Given the description of an element on the screen output the (x, y) to click on. 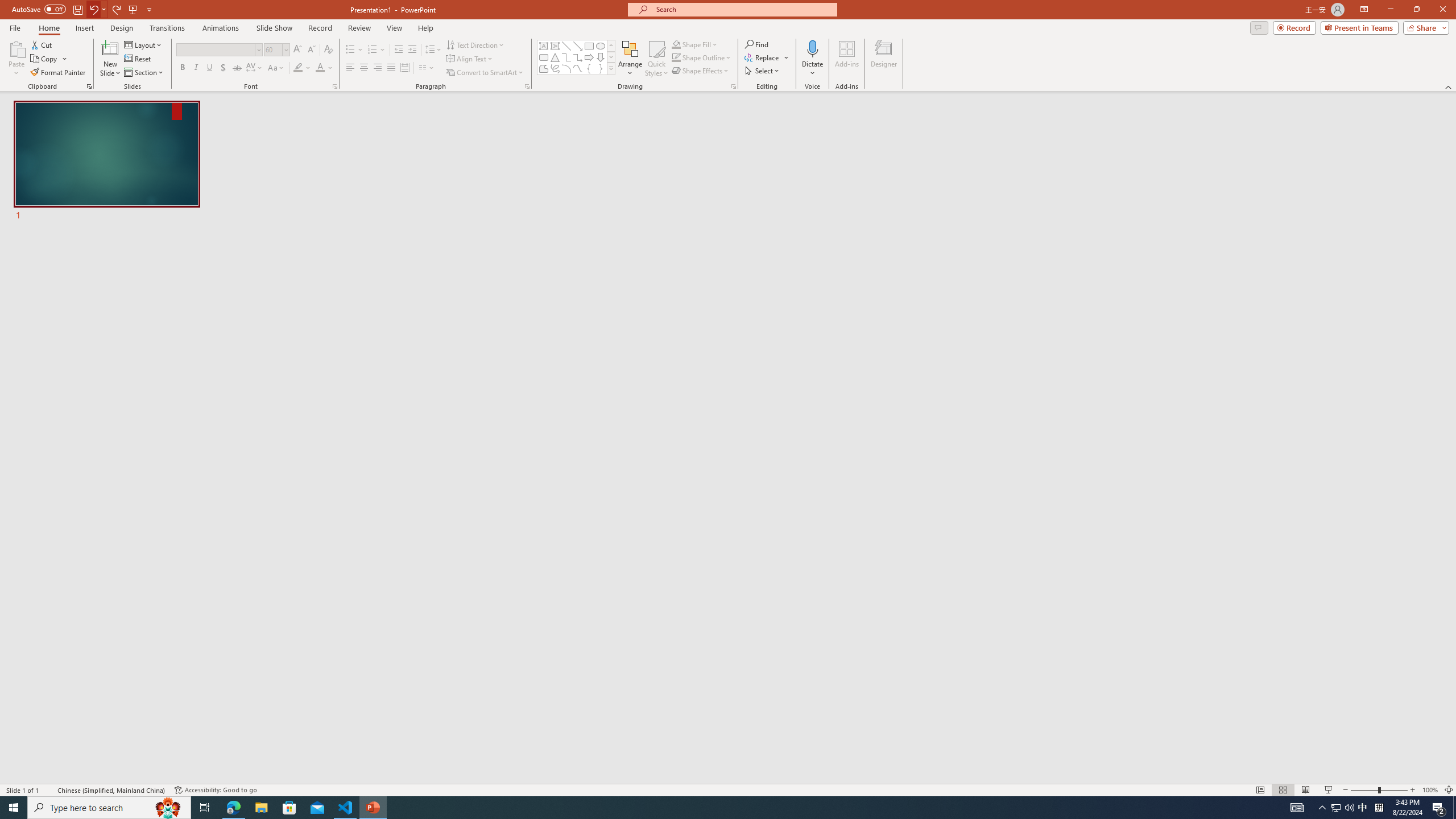
Accessibility Checker Accessibility: Good to go (216, 790)
